Given the description of an element on the screen output the (x, y) to click on. 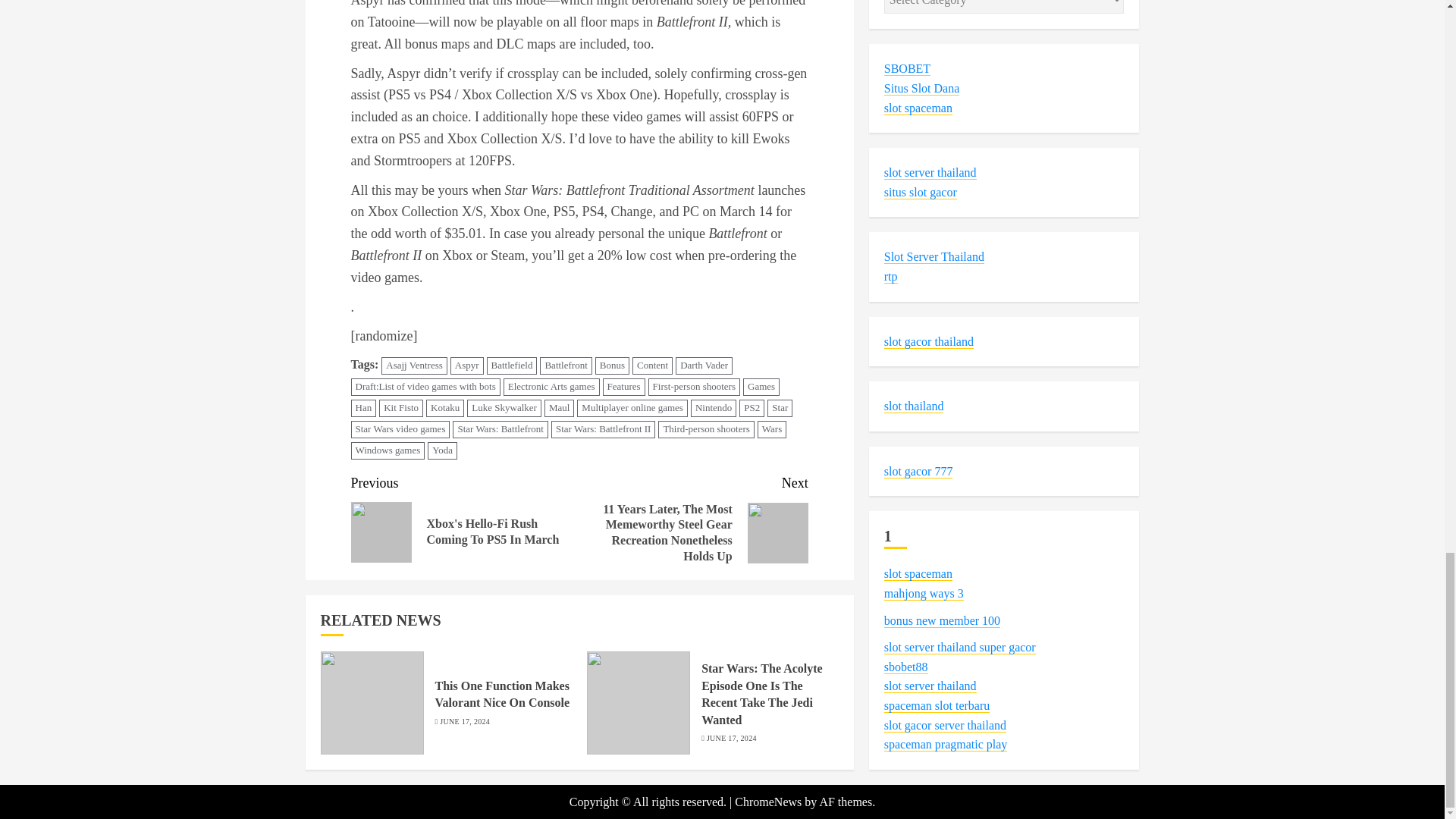
Bonus (611, 365)
Asajj Ventress (413, 365)
Battlefront (565, 365)
Aspyr (466, 365)
Darth Vader (703, 365)
Battlefield (511, 365)
Content (651, 365)
Draft:List of video games with bots (424, 386)
